Given the description of an element on the screen output the (x, y) to click on. 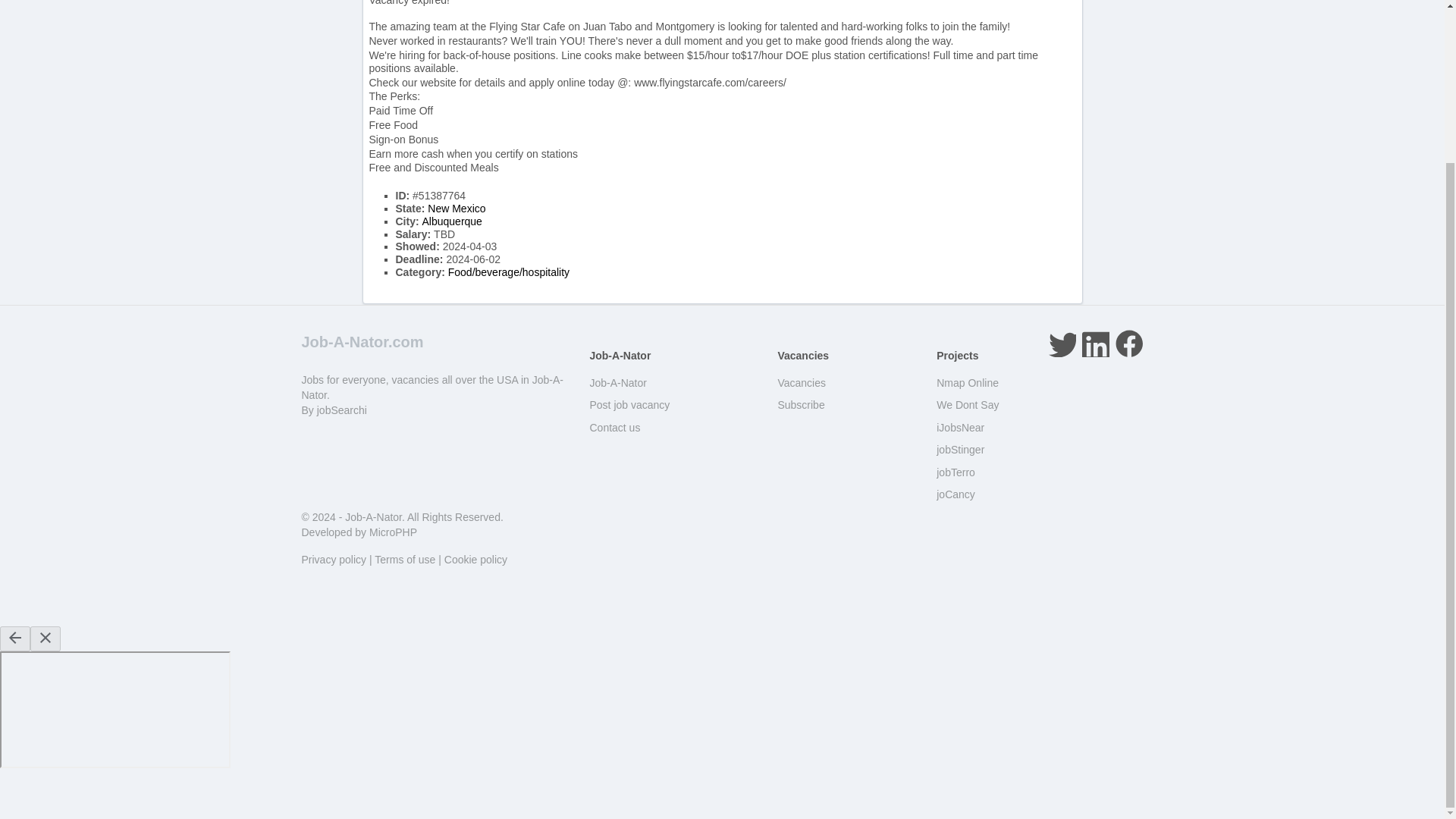
Subscribe (800, 404)
MicroPHP (392, 532)
Nmap Online (967, 382)
New Mexico (456, 208)
Post job vacancy (629, 404)
Vacancies (801, 382)
We Dont Say (967, 404)
jobterro.com (955, 472)
iJobsNear (960, 427)
Privacy policy (333, 559)
wedontsay.com (967, 404)
New Mexico (456, 208)
jobStinger (960, 449)
Vacancies (801, 382)
jobstinger.com (960, 449)
